Given the description of an element on the screen output the (x, y) to click on. 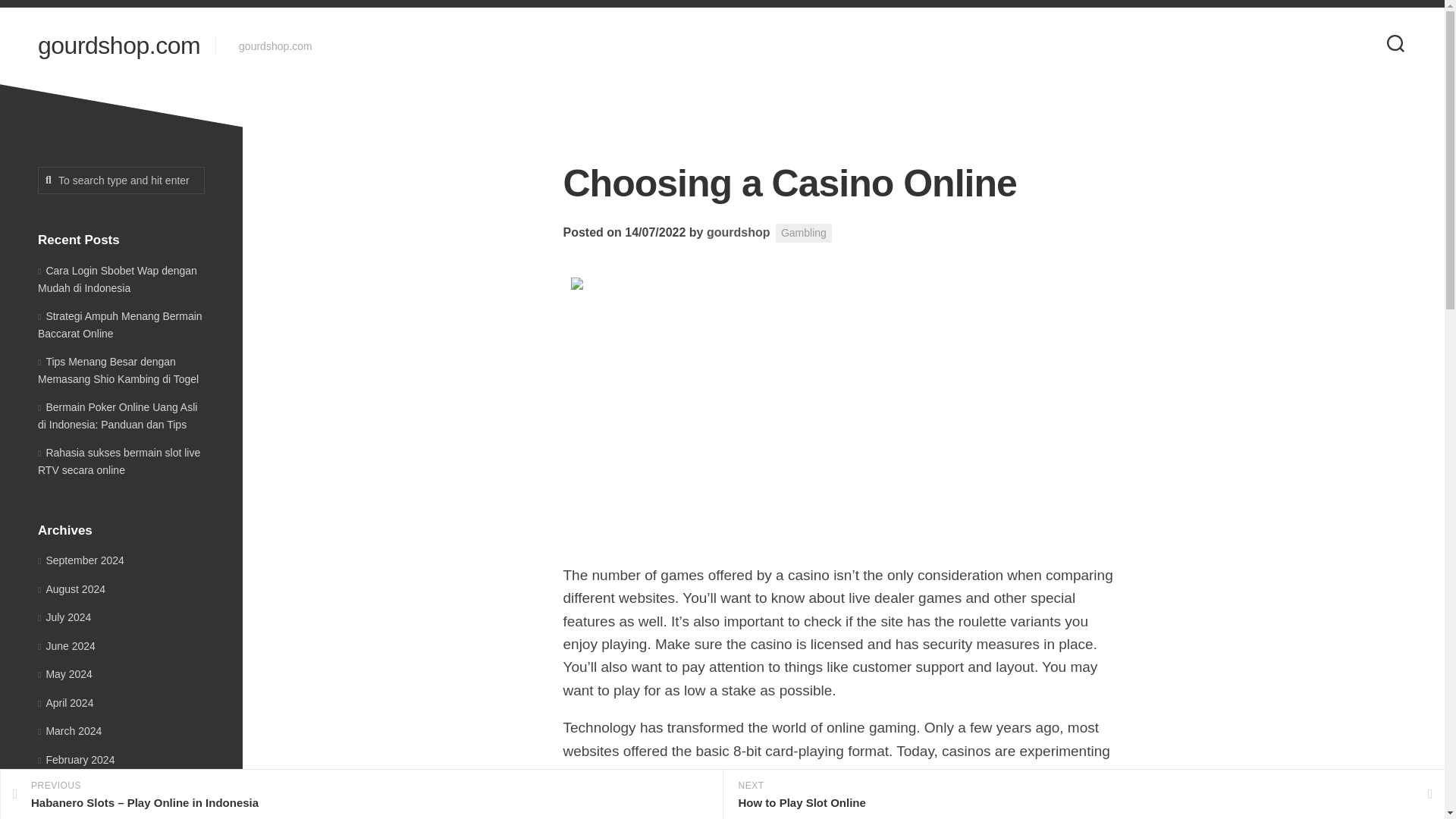
Posts by gourdshop (738, 232)
Strategi Ampuh Menang Bermain Baccarat Online (119, 324)
Gambling (803, 232)
June 2024 (66, 645)
September 2024 (80, 560)
December 2023 (78, 814)
To search type and hit enter (121, 180)
April 2024 (65, 702)
To search type and hit enter (121, 180)
